Given the description of an element on the screen output the (x, y) to click on. 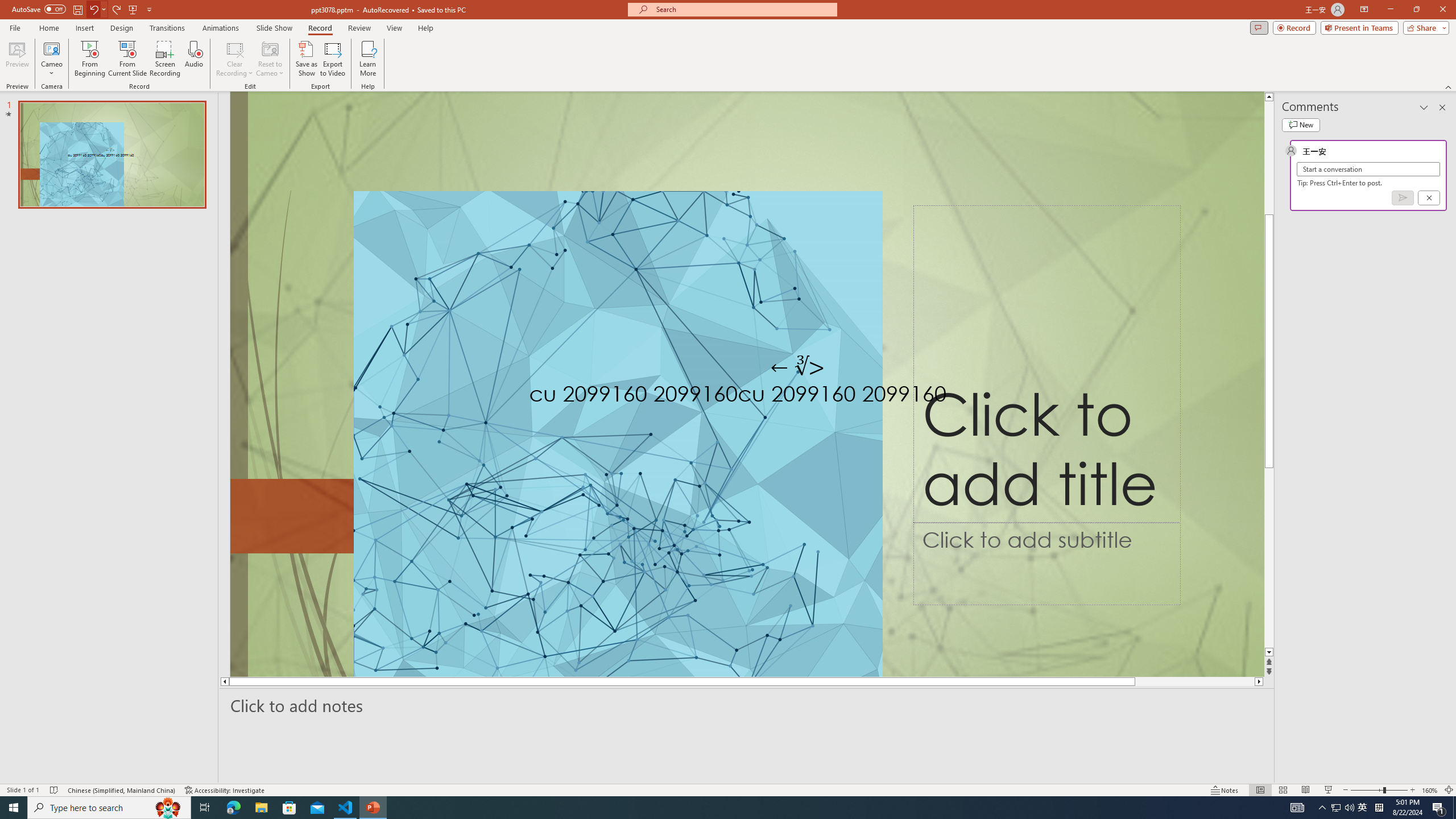
Start a conversation (1368, 168)
Audio (193, 58)
Learn More (368, 58)
Reset to Cameo (269, 58)
Cameo (51, 58)
